Given the description of an element on the screen output the (x, y) to click on. 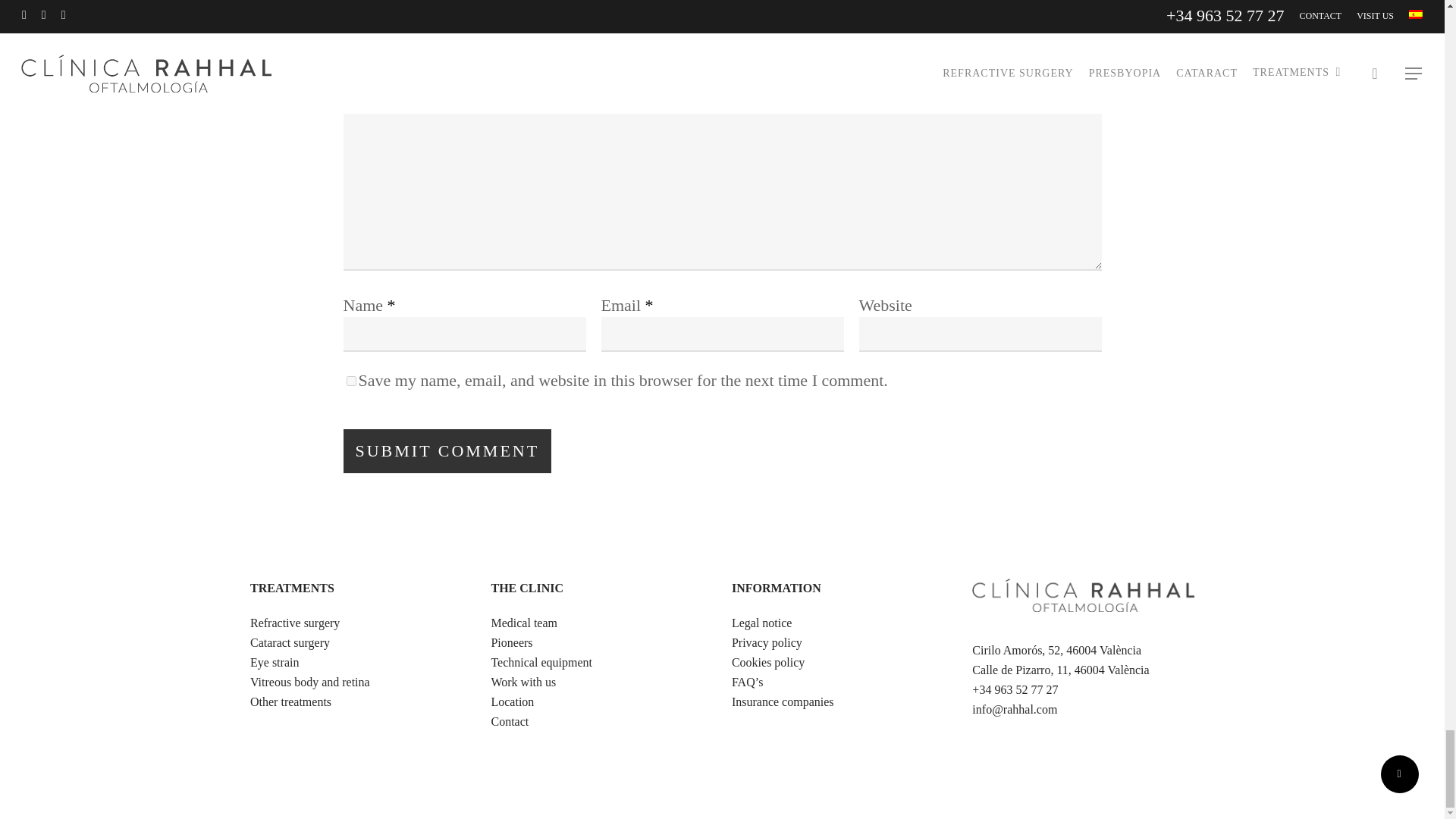
Submit Comment (446, 451)
yes (350, 380)
